Given the description of an element on the screen output the (x, y) to click on. 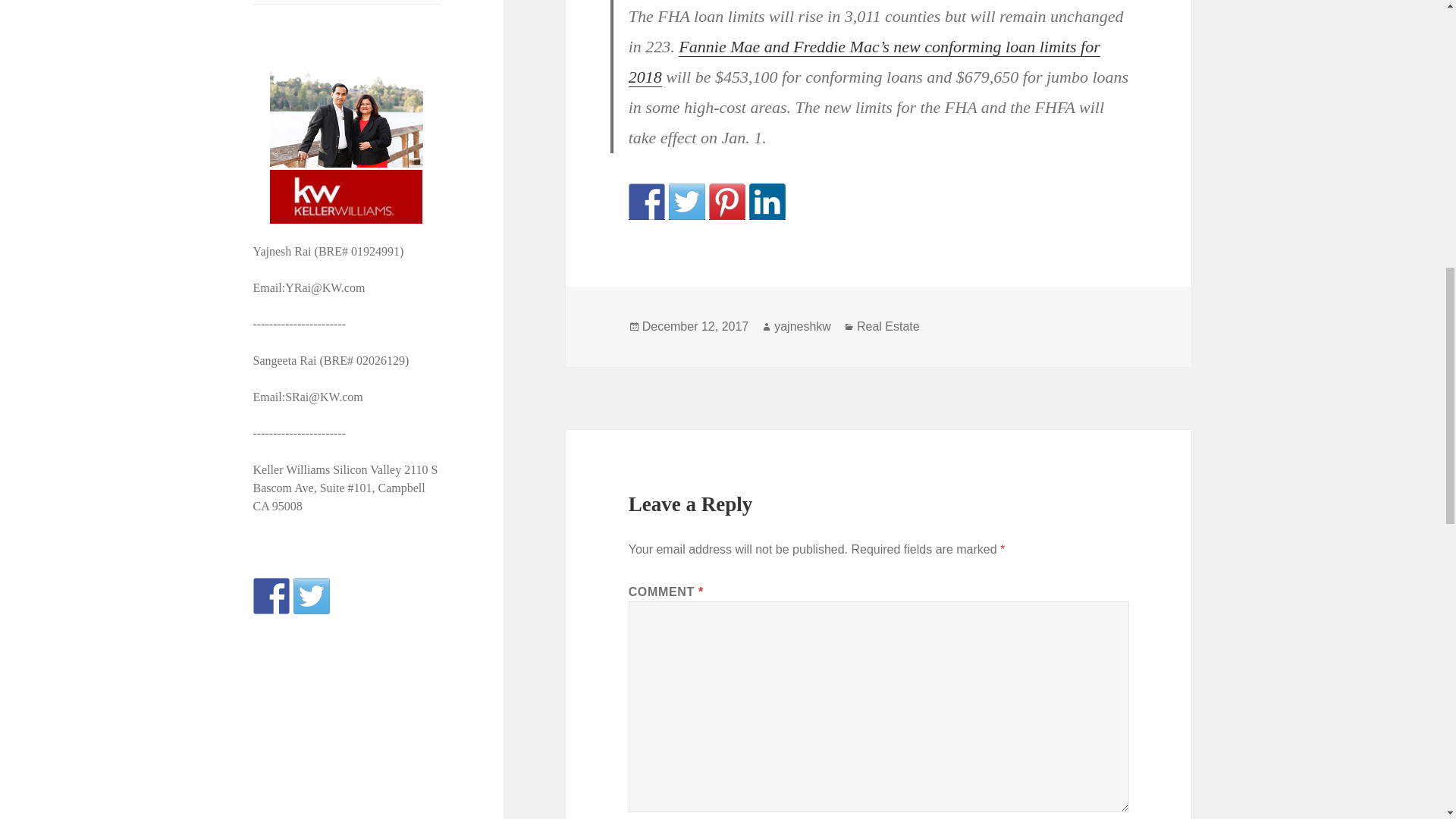
Real Estate (888, 326)
Follow us on Twitter (312, 596)
Share on Facebook (646, 201)
Follow us on Facebook (271, 596)
yajneshkw (802, 326)
Share on Twitter (686, 201)
Login Customizer (347, 2)
December 12, 2017 (695, 326)
